Given the description of an element on the screen output the (x, y) to click on. 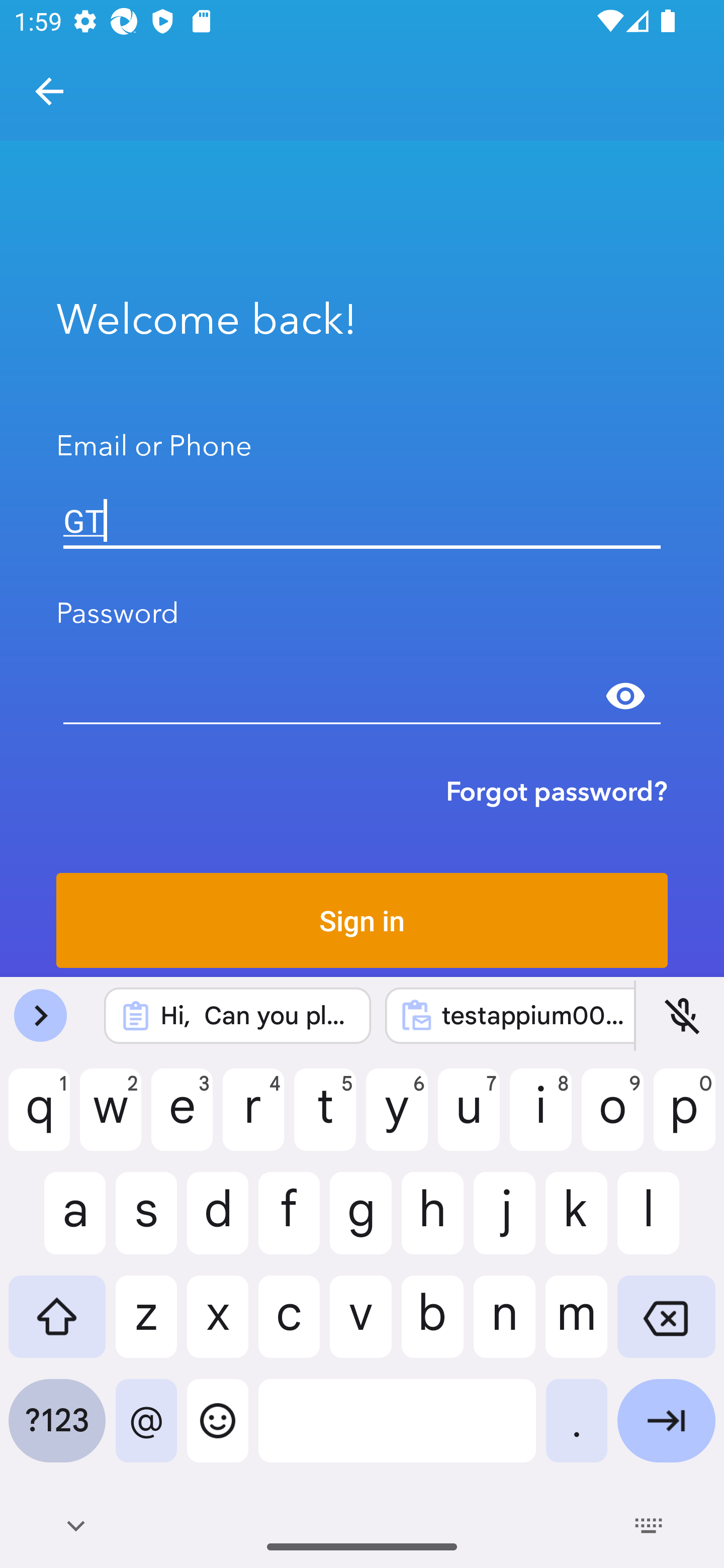
Navigate up (49, 91)
GT (361, 521)
Show password (625, 695)
Forgot password? (556, 790)
Sign in (361, 920)
